Given the description of an element on the screen output the (x, y) to click on. 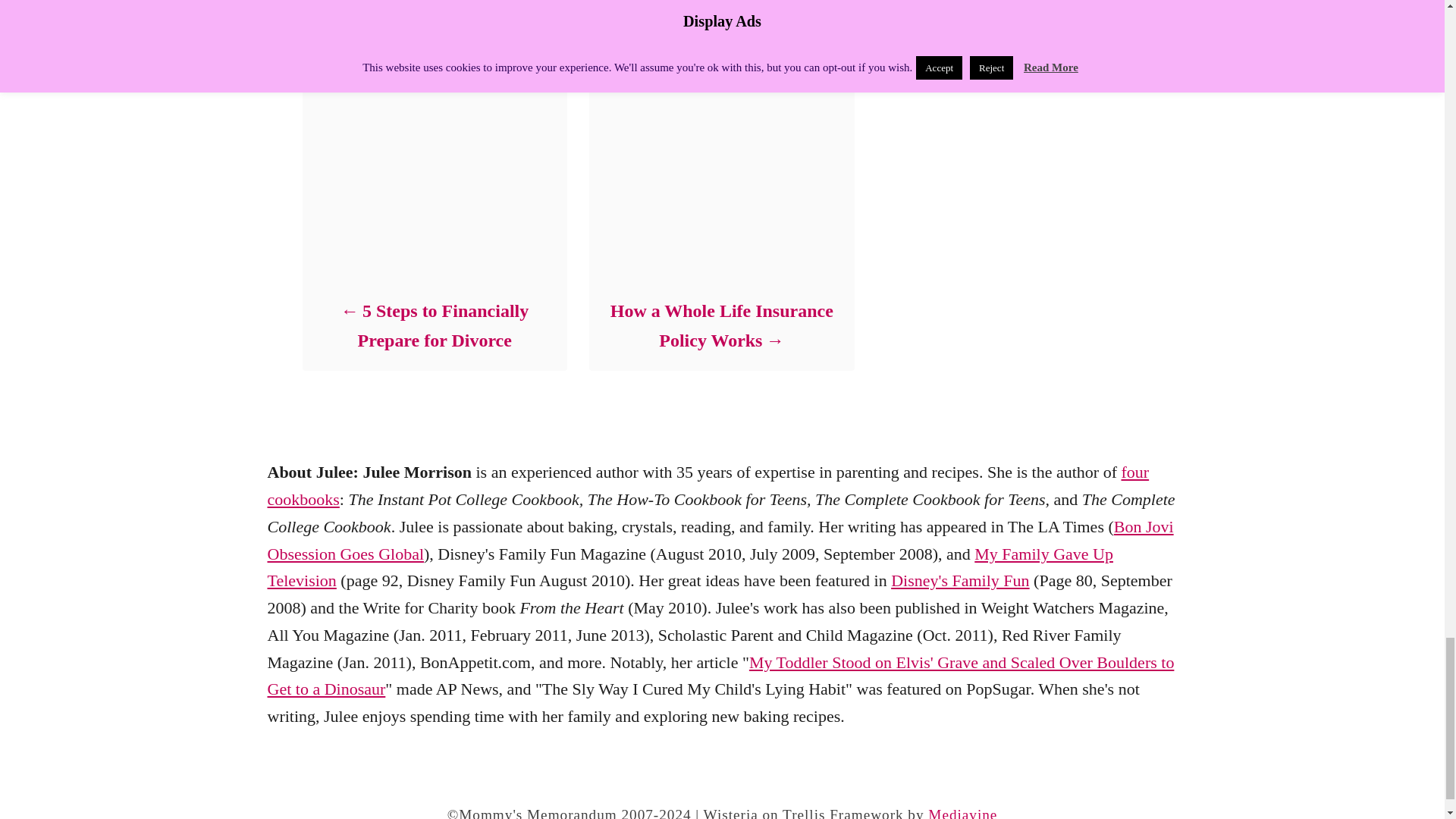
How a Whole Life Insurance Policy Works (721, 325)
four cookbooks (707, 485)
5 Steps to Financially Prepare for Divorce (434, 325)
Bon Jovi Obsession Goes Global (719, 539)
My Family Gave Up Television (689, 567)
Disney's Family Fun (960, 579)
